Given the description of an element on the screen output the (x, y) to click on. 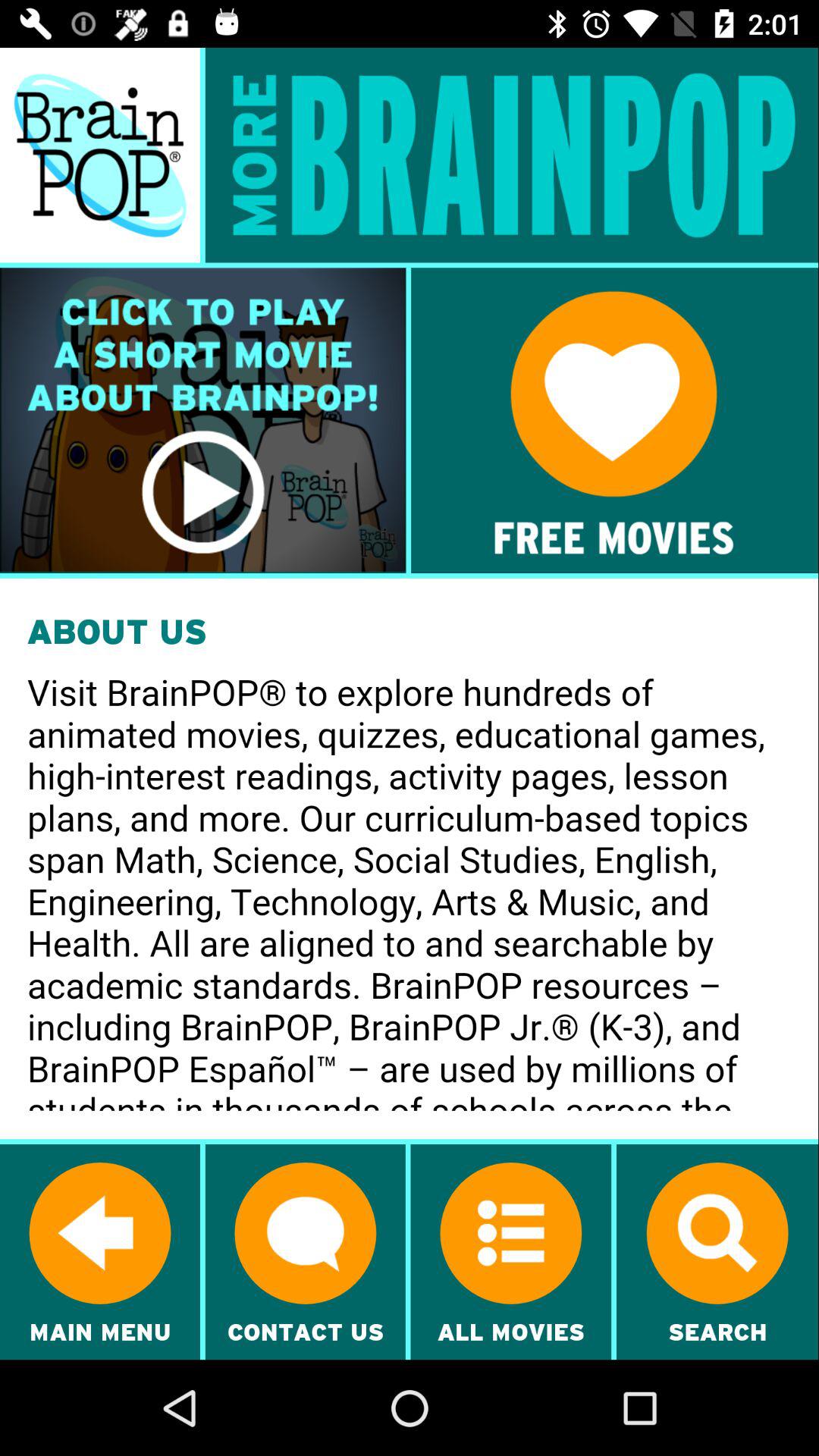
play a movie (203, 420)
